Given the description of an element on the screen output the (x, y) to click on. 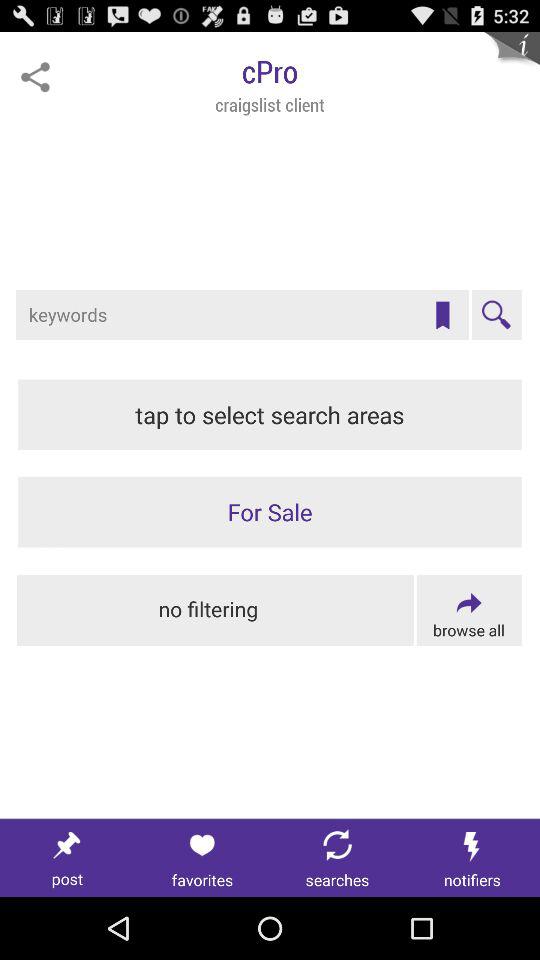
open favorites (202, 858)
